Given the description of an element on the screen output the (x, y) to click on. 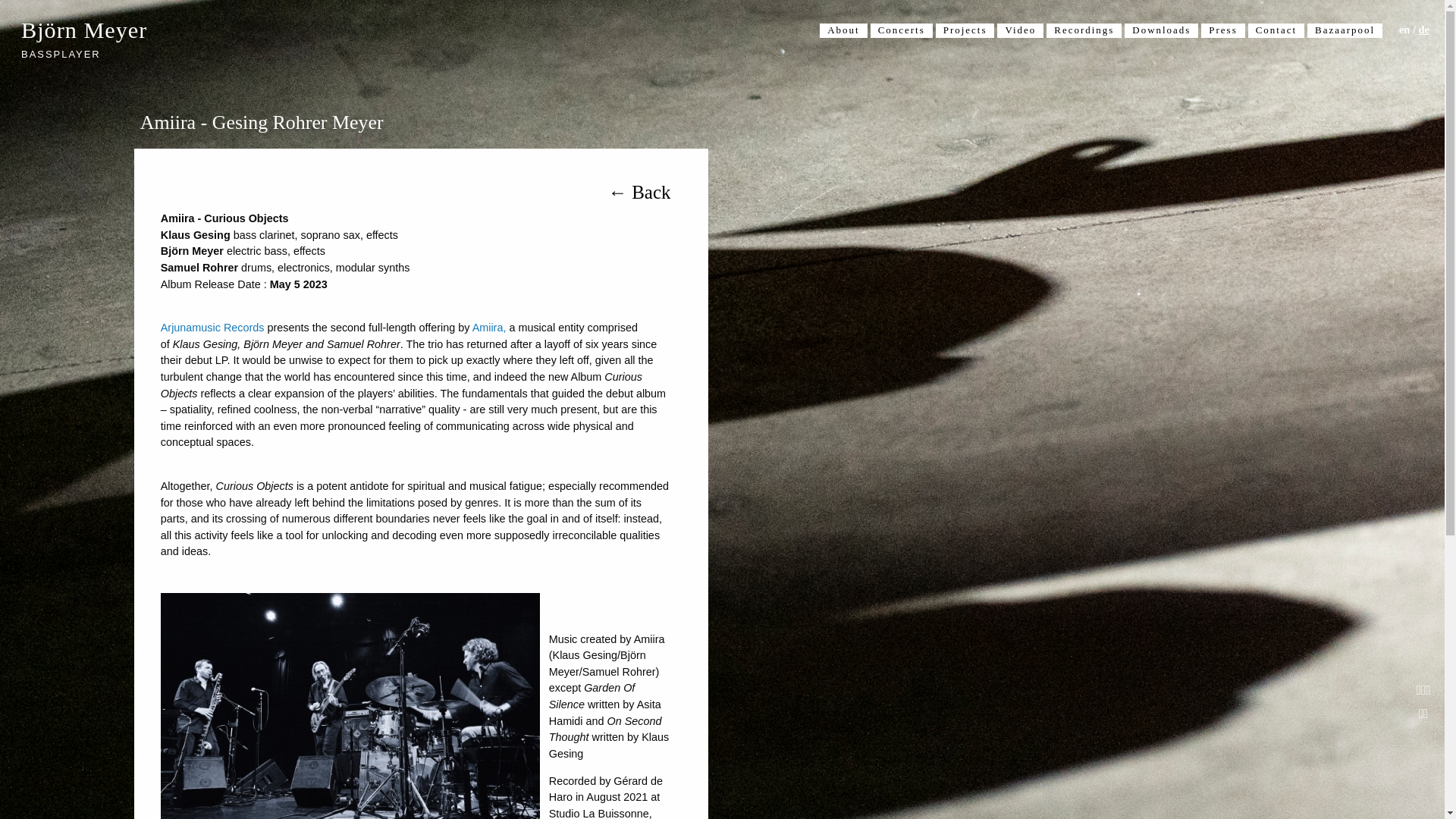
About (842, 30)
Contact (1275, 30)
Arjunamusic Records (212, 327)
Downloads (1161, 30)
Recordings (1083, 30)
Amiira, (488, 327)
Press (1222, 30)
Concerts (901, 30)
Video (1020, 30)
Projects (965, 30)
